Given the description of an element on the screen output the (x, y) to click on. 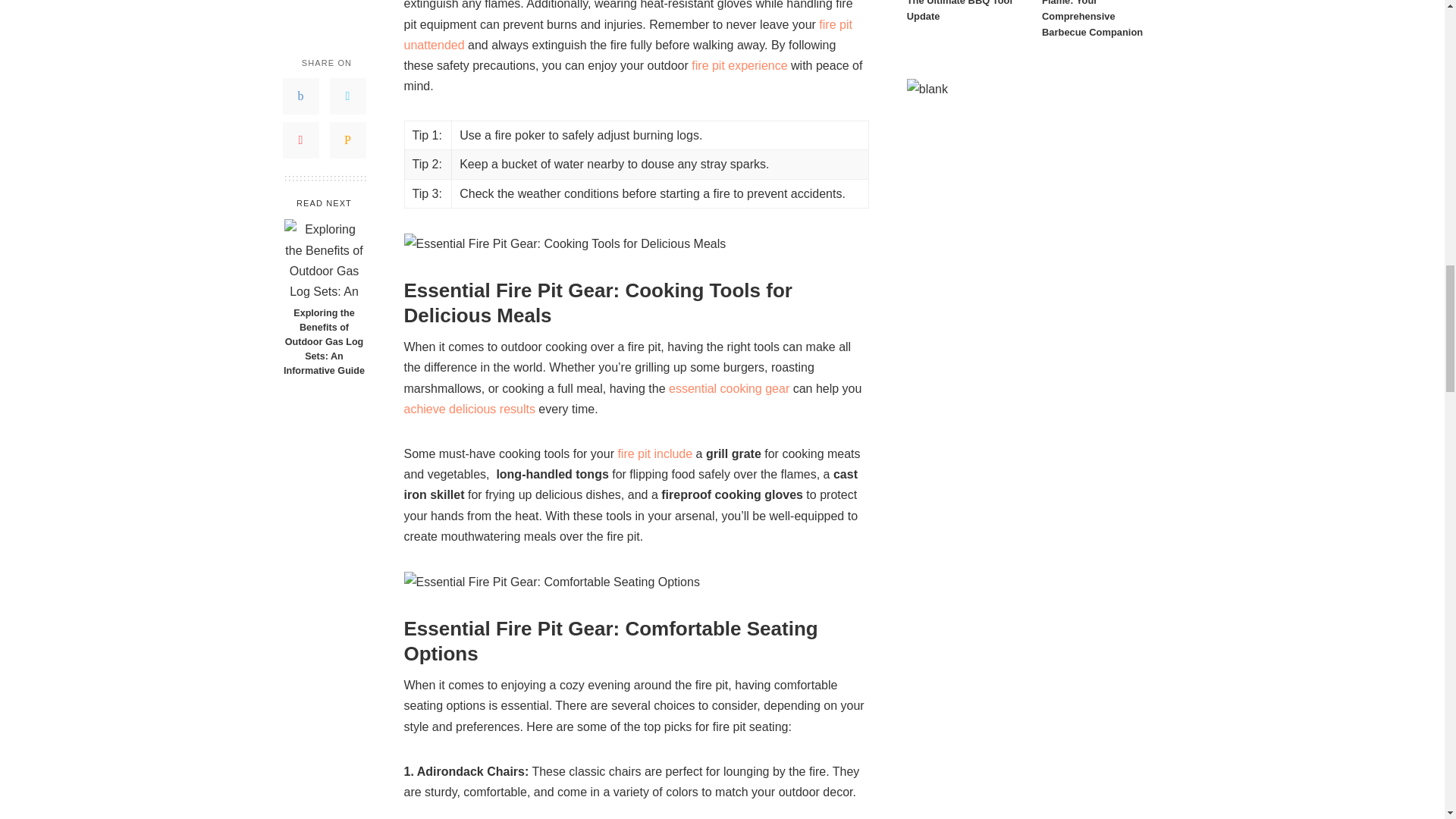
Exploring DIY Fire Pit Kits: A Comprehensive Guide (739, 65)
achieve delicious results (468, 408)
fire pit include (655, 453)
fire pit experience (739, 65)
fire pit unattended (627, 34)
essential cooking gear (728, 388)
2024 BBQ Guide: Mastering Fire Pit Art (655, 453)
Enhancing Your Outdoor Space with Fire Pit Decor (627, 34)
